Given the description of an element on the screen output the (x, y) to click on. 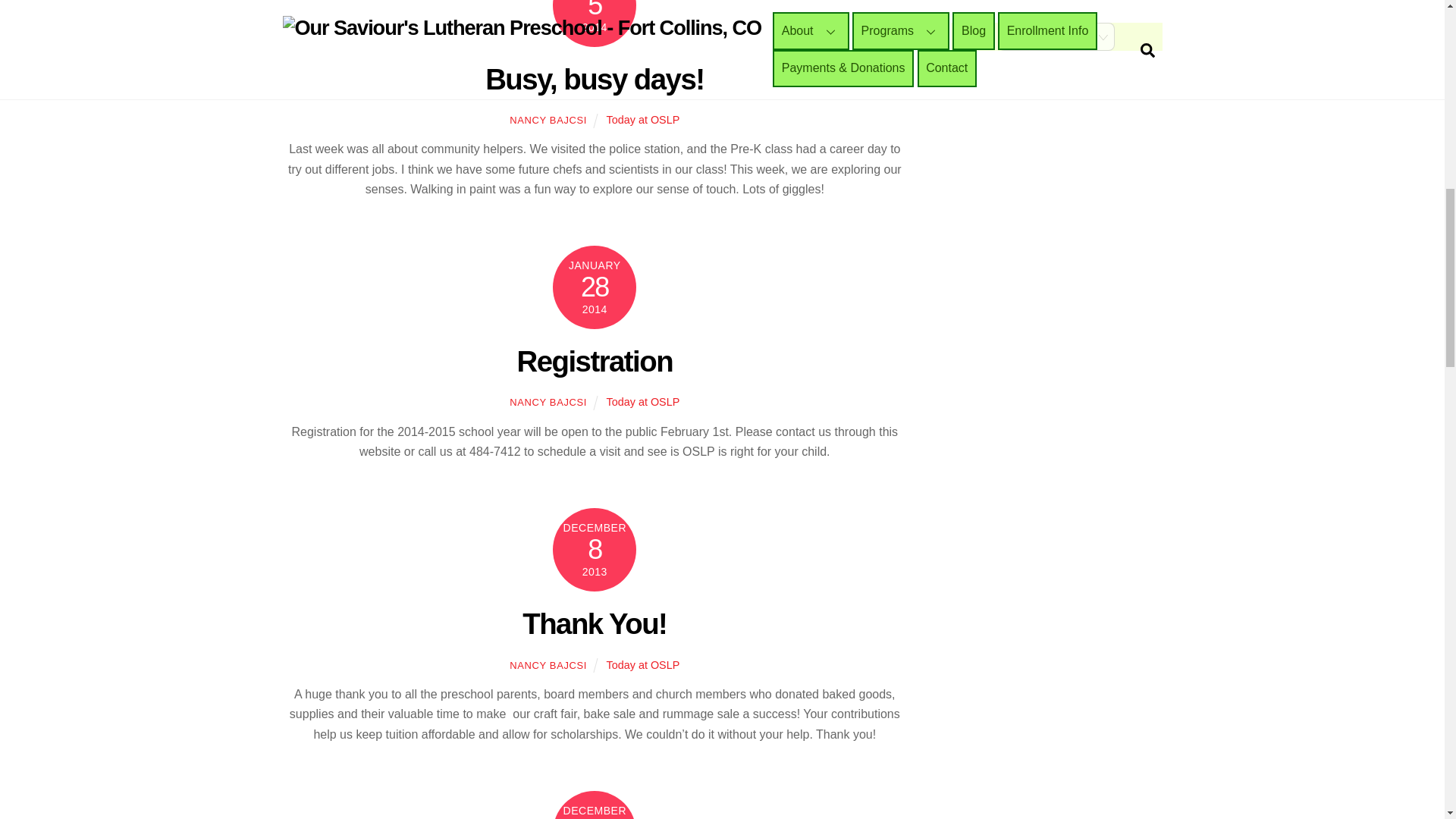
Today at OSLP (643, 664)
NANCY BAJCSI (547, 120)
Thank You! (594, 623)
Registration (594, 360)
Today at OSLP (643, 119)
Busy, busy days! (593, 79)
Today at OSLP (643, 401)
NANCY BAJCSI (547, 401)
NANCY BAJCSI (547, 665)
